Given the description of an element on the screen output the (x, y) to click on. 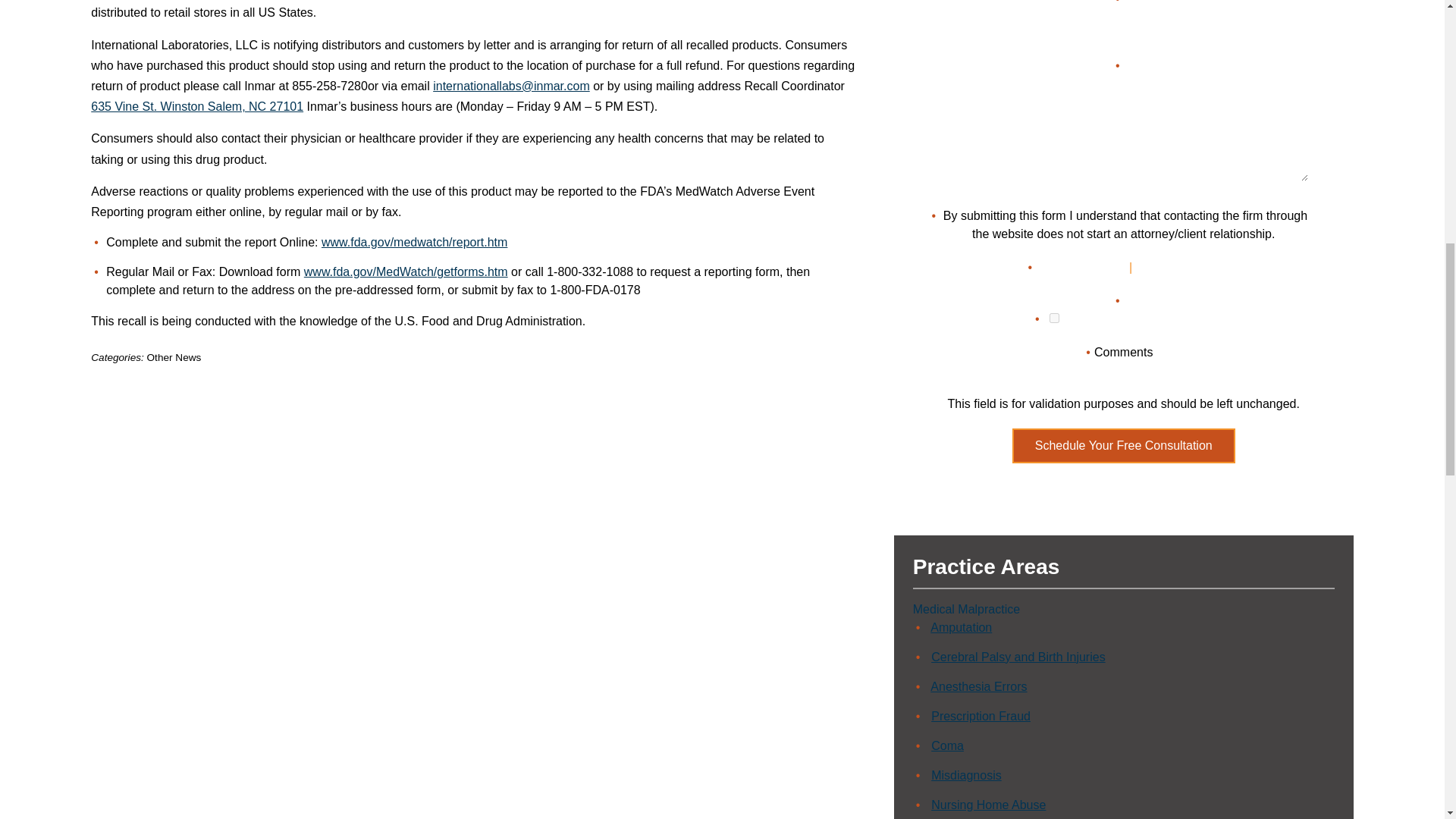
Disclaimer (1080, 267)
I have read the disclaimer (1054, 317)
Click for more Other News information (174, 357)
